Given the description of an element on the screen output the (x, y) to click on. 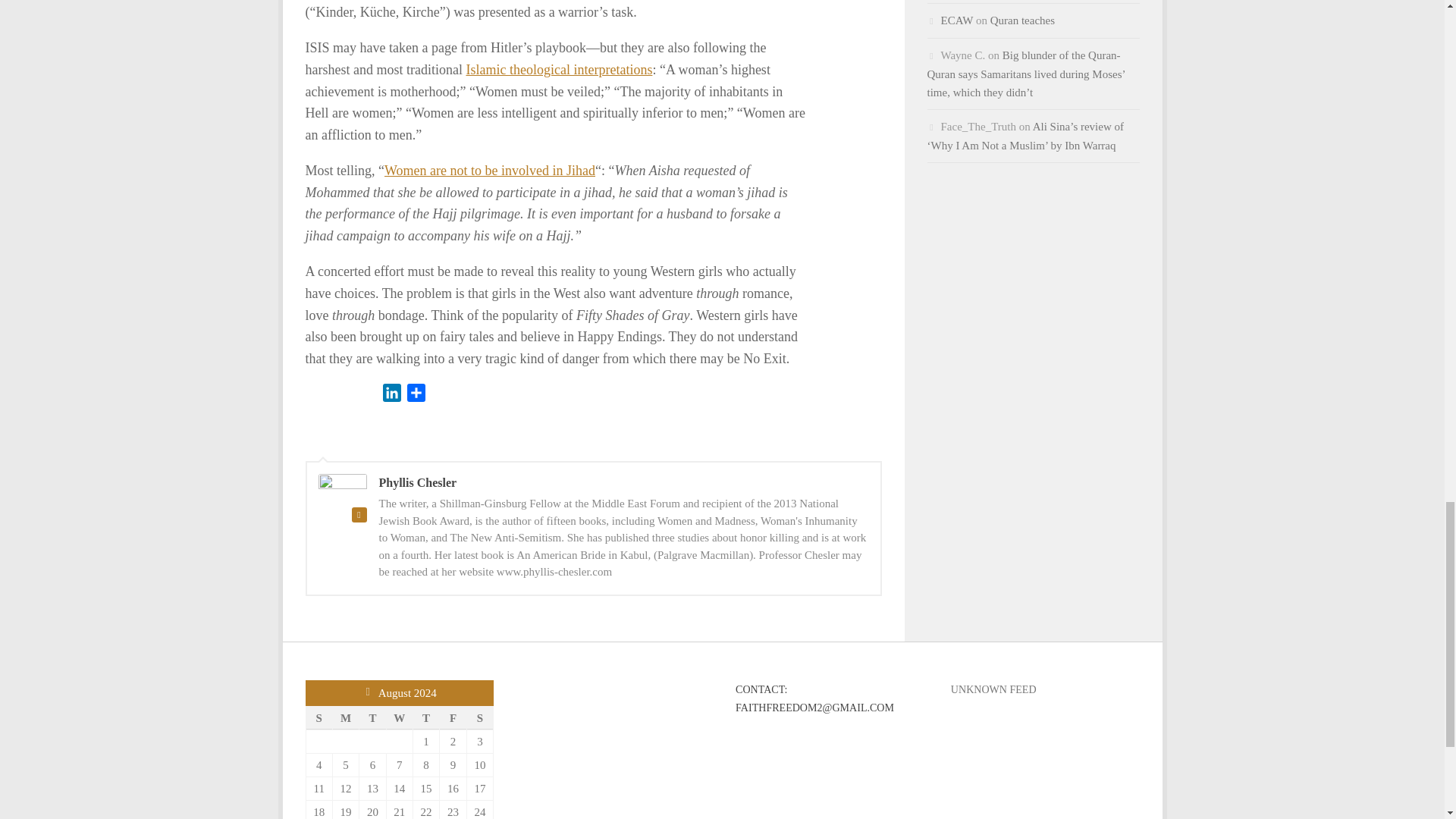
LinkedIn (390, 395)
Sunday (318, 717)
Monday (344, 717)
